Given the description of an element on the screen output the (x, y) to click on. 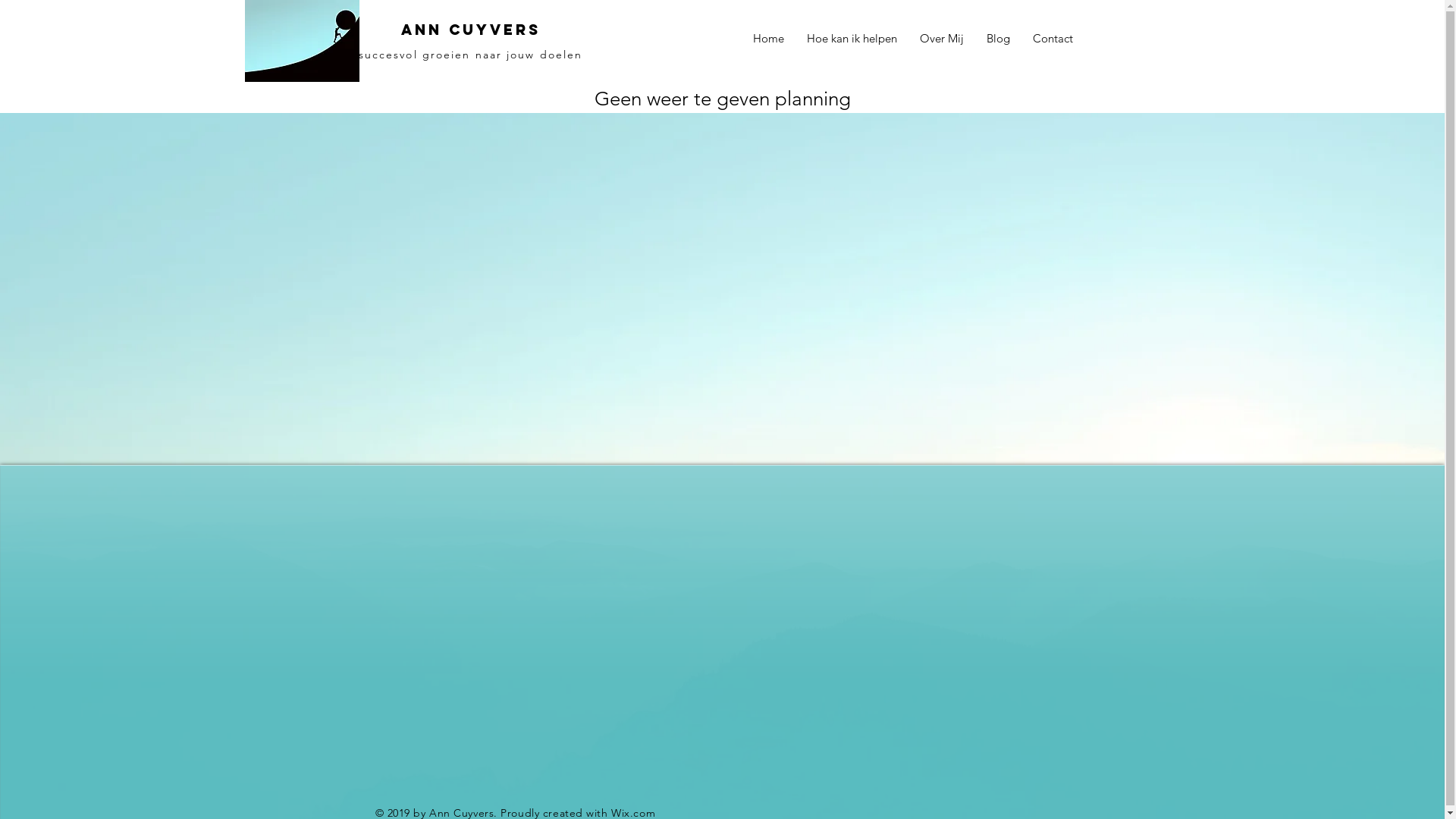
Blog Element type: text (998, 38)
Hoe kan ik helpen Element type: text (850, 38)
Over Mij Element type: text (941, 38)
Ann Cuyvers Element type: text (469, 29)
Contact Element type: text (1051, 38)
Home Element type: text (768, 38)
succesvol groeien naar jouw doelen Element type: text (470, 54)
